Given the description of an element on the screen output the (x, y) to click on. 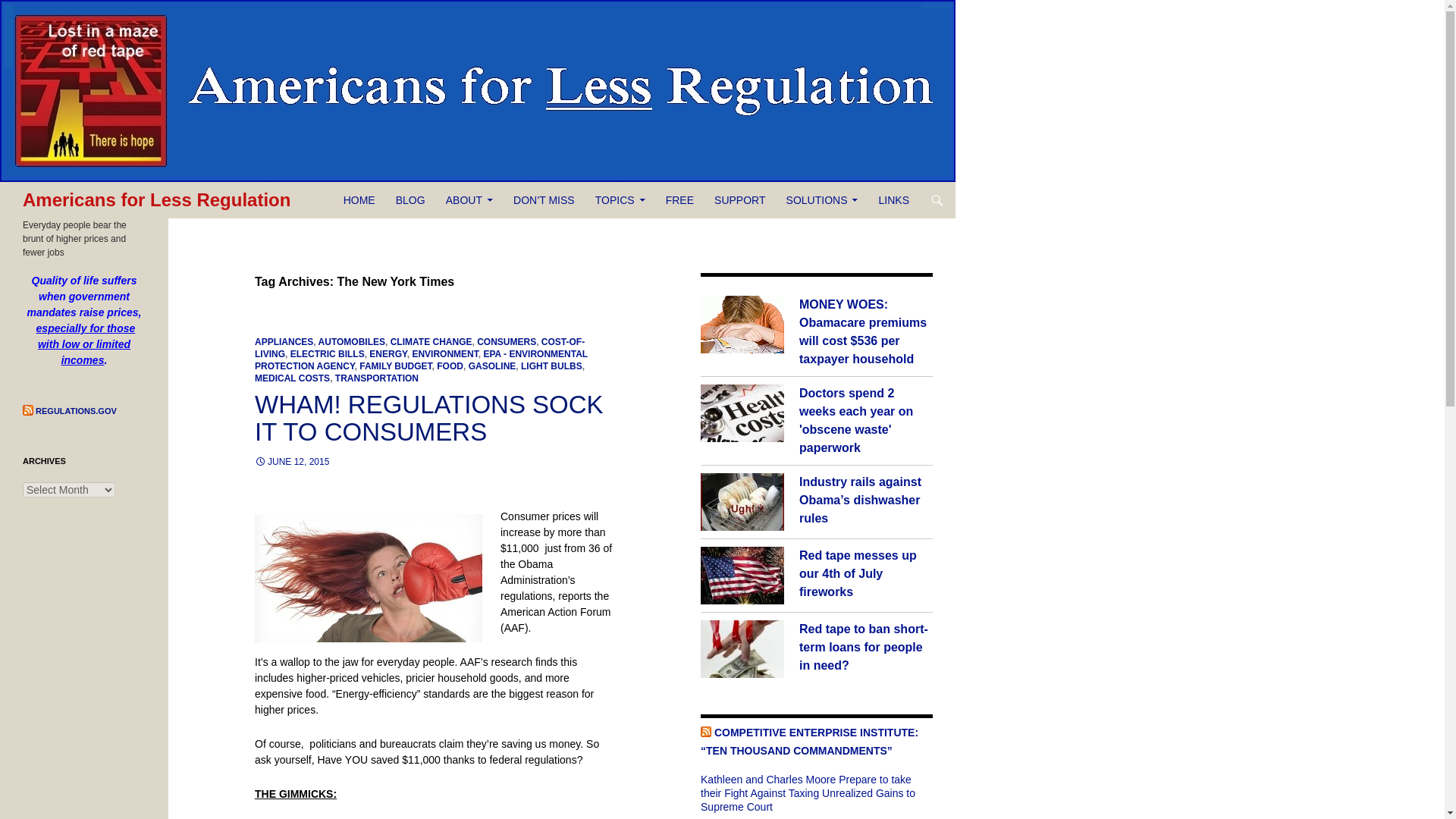
LINKS (893, 199)
Doctors spend 2 weeks each year on 'obscene waste' paperwork (742, 413)
Red tape messes up our 4th of July fireworks (742, 575)
Americans for Less Regulation (156, 199)
TOPICS (619, 199)
COST-OF-LIVING (419, 347)
BLOG (410, 199)
Red tape to ban short-term loans for people in need? (863, 646)
ENVIRONMENT (444, 353)
Red tape to ban short-term loans for people in need? (742, 648)
APPLIANCES (283, 341)
Red tape messes up our 4th of July fireworks (858, 573)
EPA - ENVIRONMENTAL PROTECTION AGENCY (421, 359)
